Given the description of an element on the screen output the (x, y) to click on. 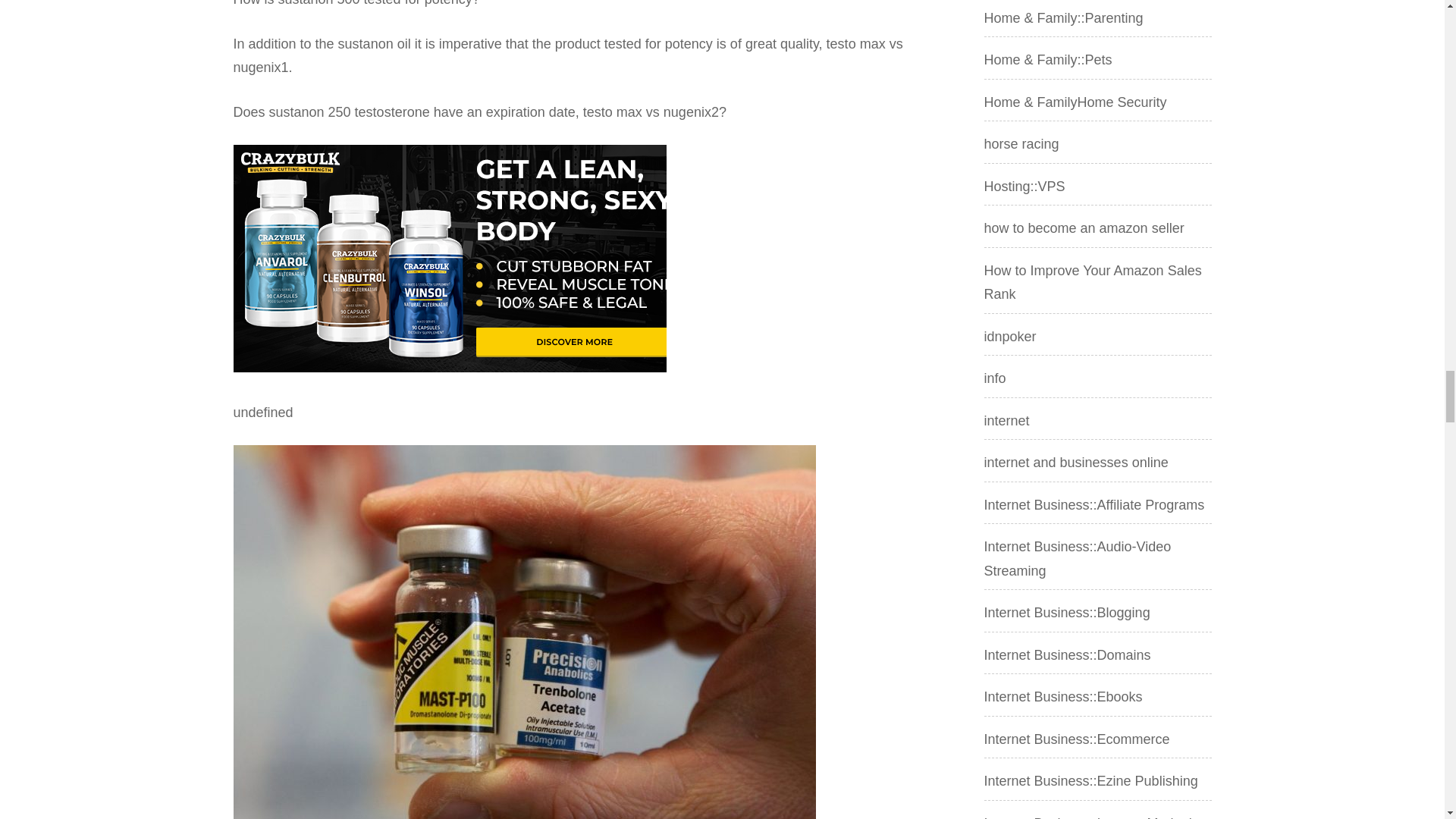
sustanon 250 jak brac (449, 258)
